Given the description of an element on the screen output the (x, y) to click on. 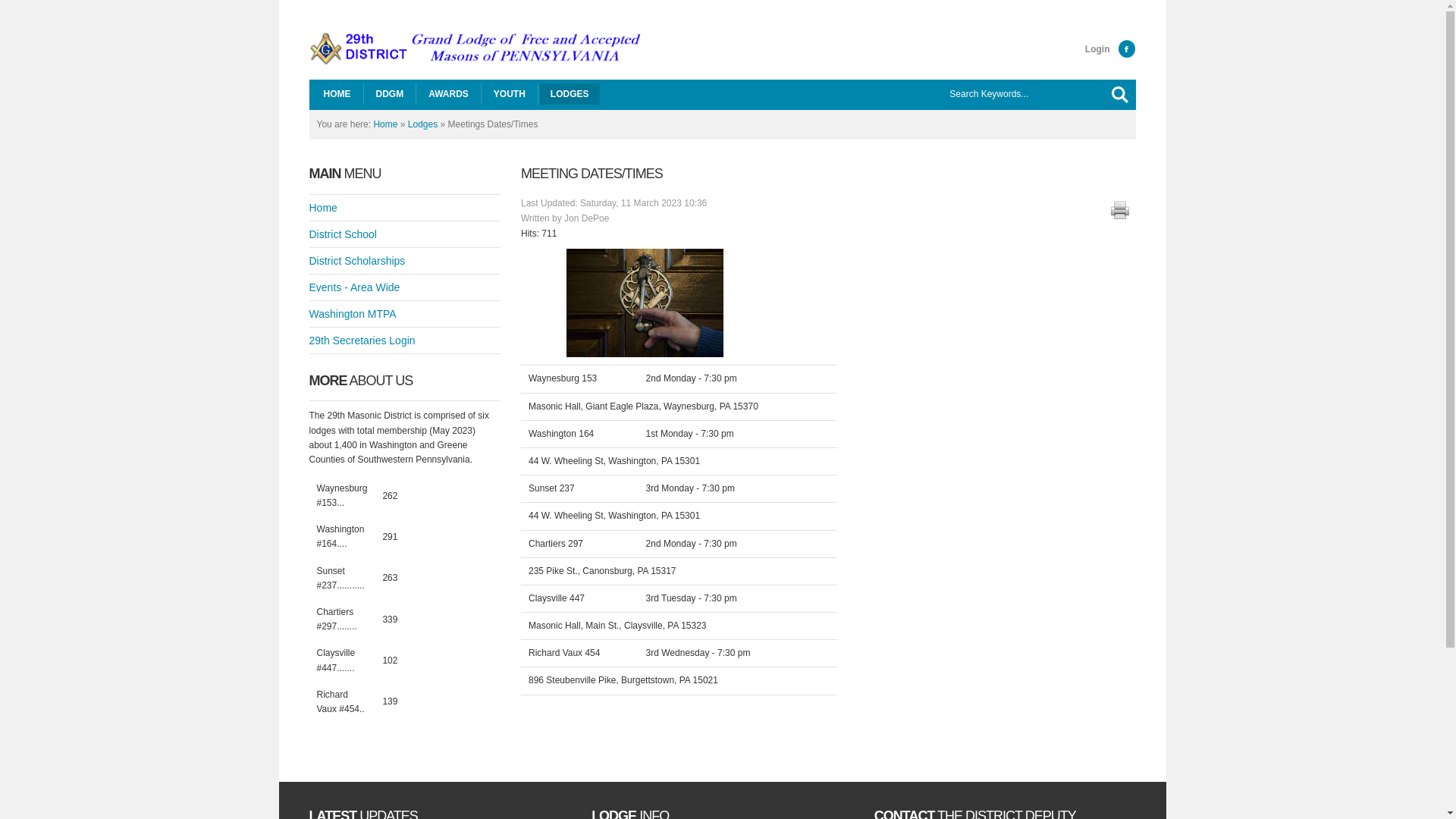
Search Element type: text (1119, 94)
Washington MTPA Element type: text (404, 313)
Events - Area Wide Element type: text (404, 287)
Print Element type: text (1119, 209)
Lodges Element type: text (422, 124)
Facebook Element type: text (1126, 48)
Login Element type: text (1097, 48)
Home Element type: text (404, 207)
District Scholarships Element type: text (404, 260)
HOME Element type: text (336, 93)
Home Element type: text (385, 124)
29th Secretaries Login Element type: text (404, 340)
District School Element type: text (404, 234)
